Given the description of an element on the screen output the (x, y) to click on. 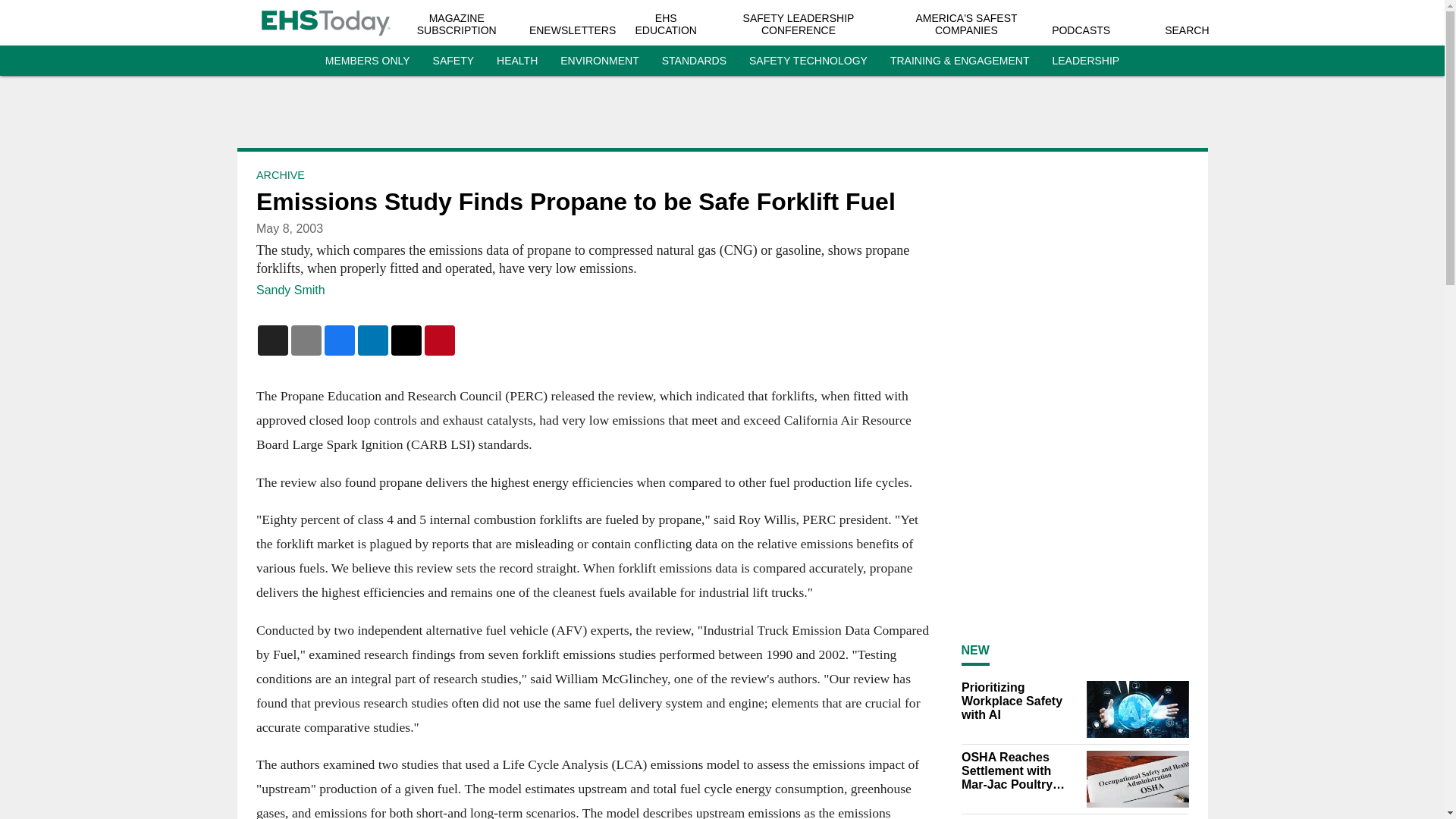
MAGAZINE SUBSCRIPTION (456, 24)
SAFETY LEADERSHIP CONFERENCE (798, 24)
MEMBERS ONLY (367, 60)
ENEWSLETTERS (572, 30)
HEALTH (516, 60)
LEADERSHIP (1085, 60)
Prioritizing Workplace Safety with AI (1019, 700)
SEARCH (1186, 30)
SAFETY (453, 60)
STANDARDS (694, 60)
